Given the description of an element on the screen output the (x, y) to click on. 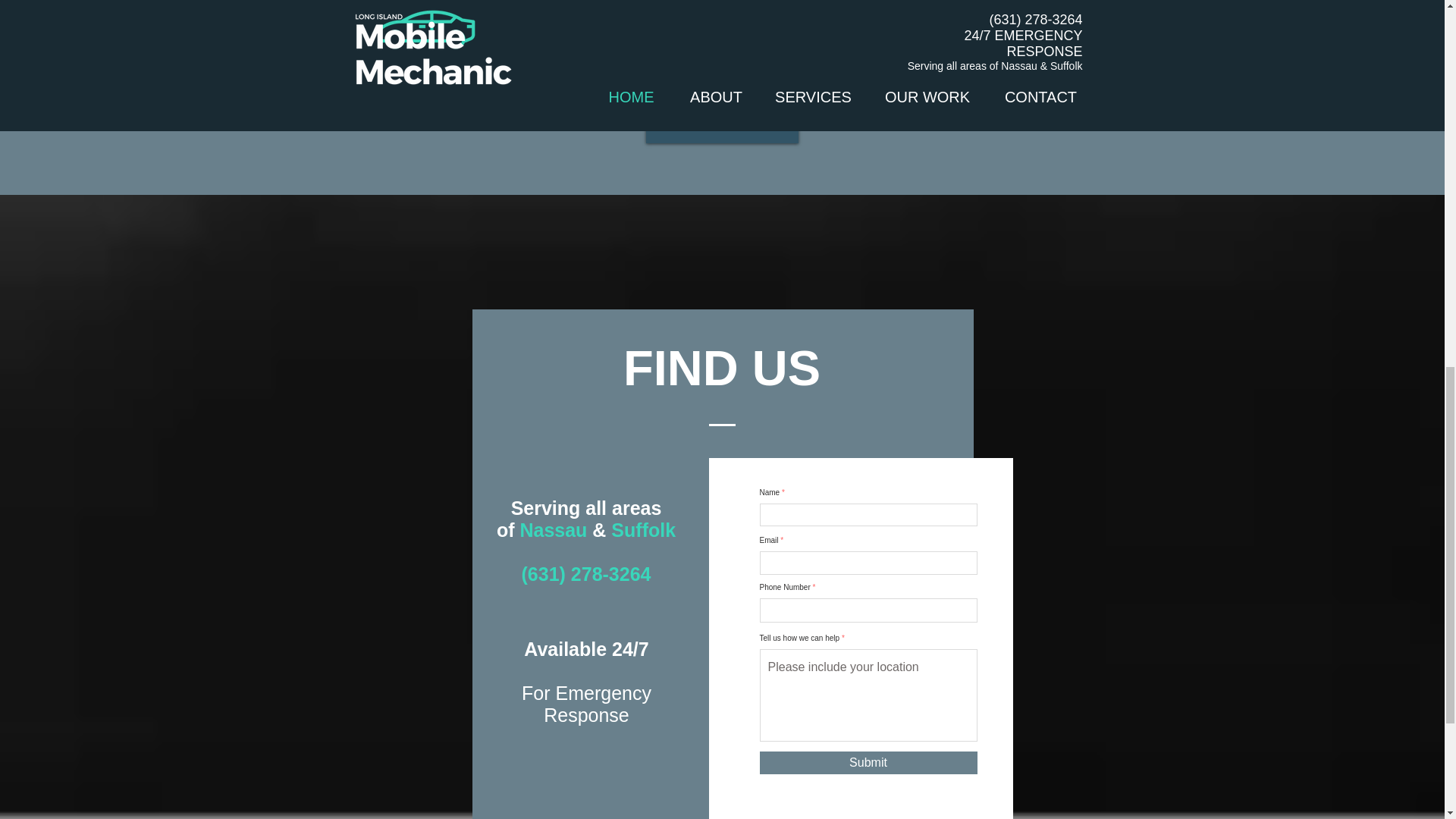
GET A QUOTE (721, 120)
Submit (868, 762)
